Given the description of an element on the screen output the (x, y) to click on. 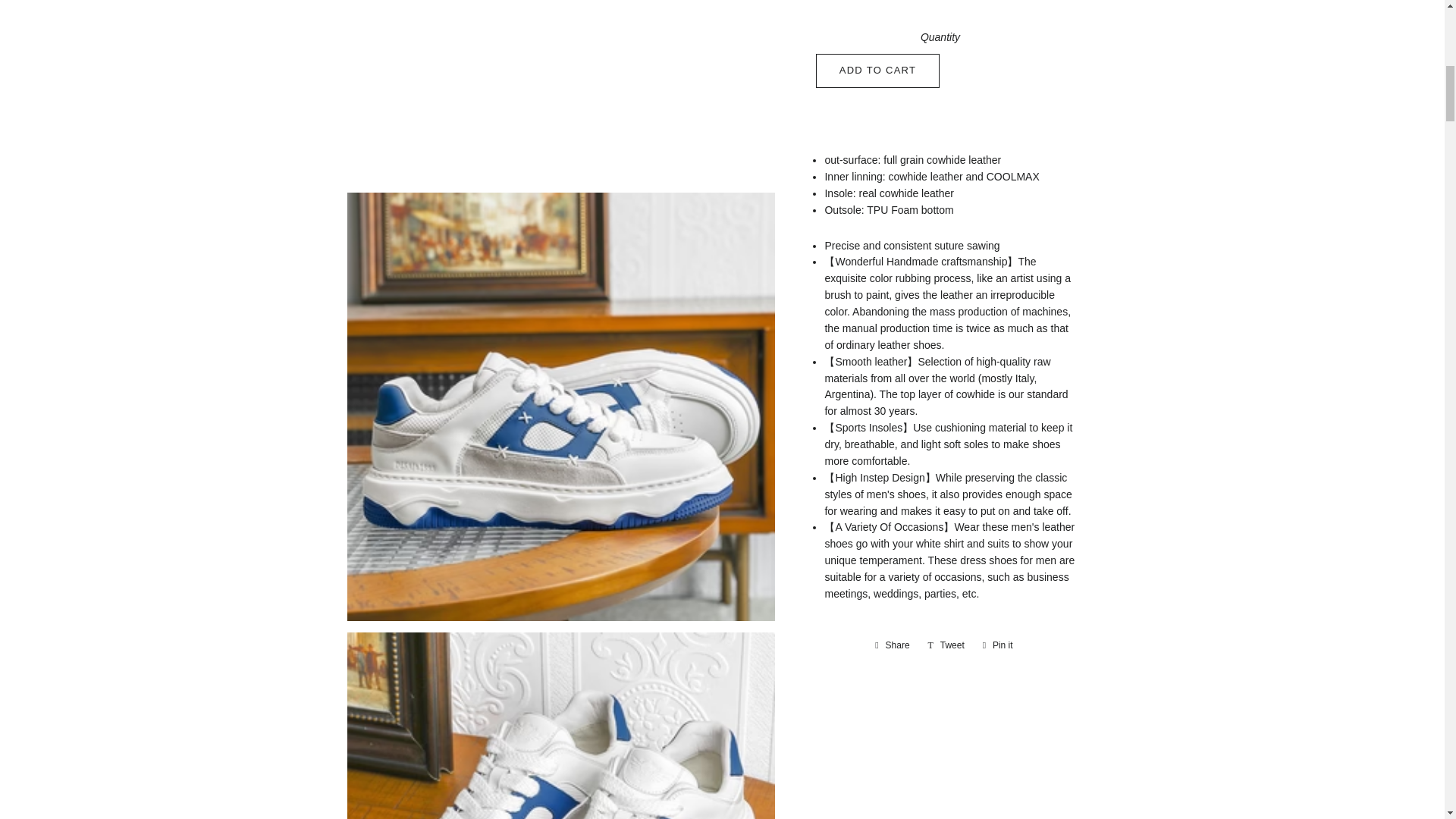
Pin on Pinterest (997, 645)
Tweet on Twitter (946, 645)
Share on Facebook (892, 645)
ADD TO CART (877, 70)
